Given the description of an element on the screen output the (x, y) to click on. 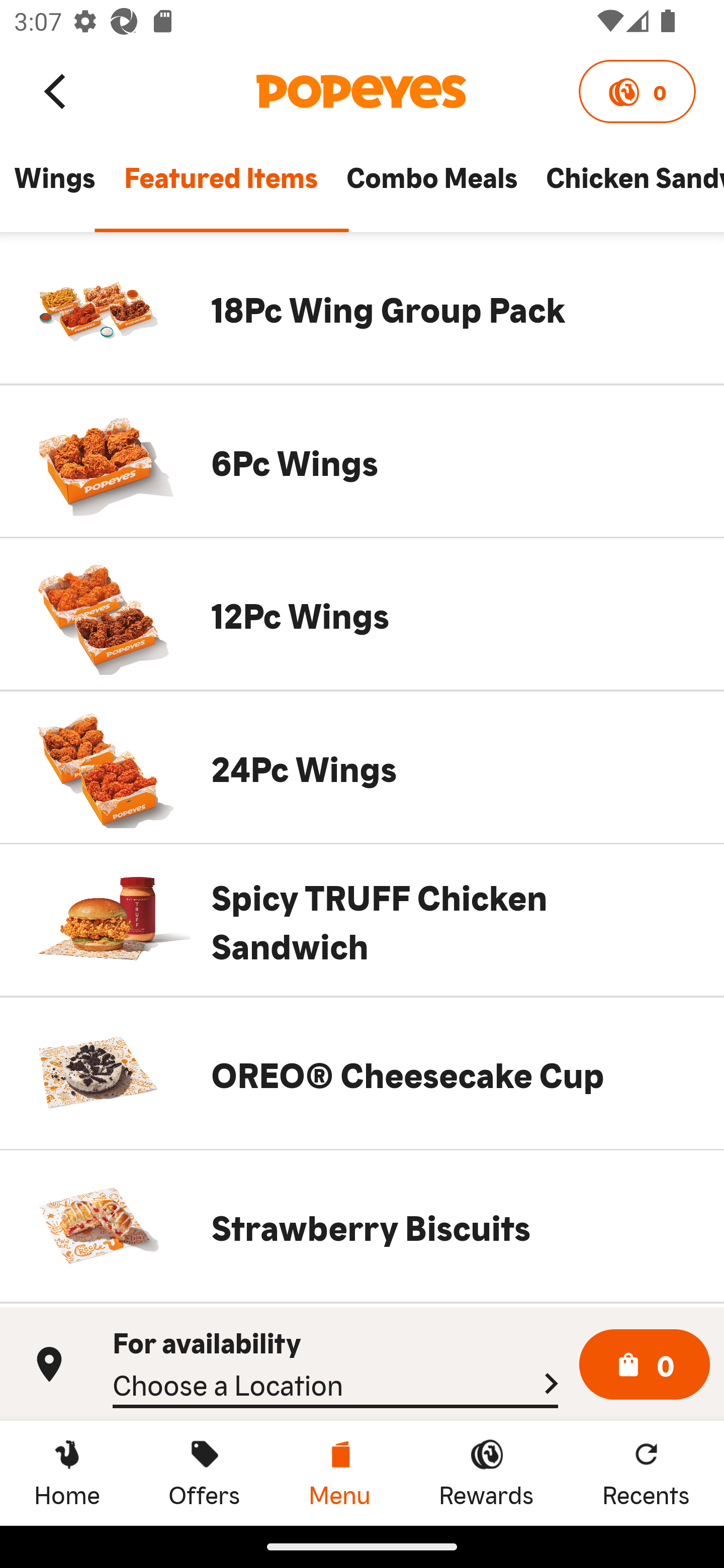
Back (56, 90)
0 Points 0 (636, 91)
Wings (54, 186)
Featured Items (220, 186)
Combo Meals (431, 186)
Chicken Sandwich   (627, 186)
0 Cart total  0 (644, 1364)
Home Home Home (66, 1472)
Offers Offers Offers (203, 1472)
Menu, current page Menu Menu, current page (339, 1472)
Rewards Rewards Rewards (486, 1472)
Recents Recents Recents (646, 1472)
